Given the description of an element on the screen output the (x, y) to click on. 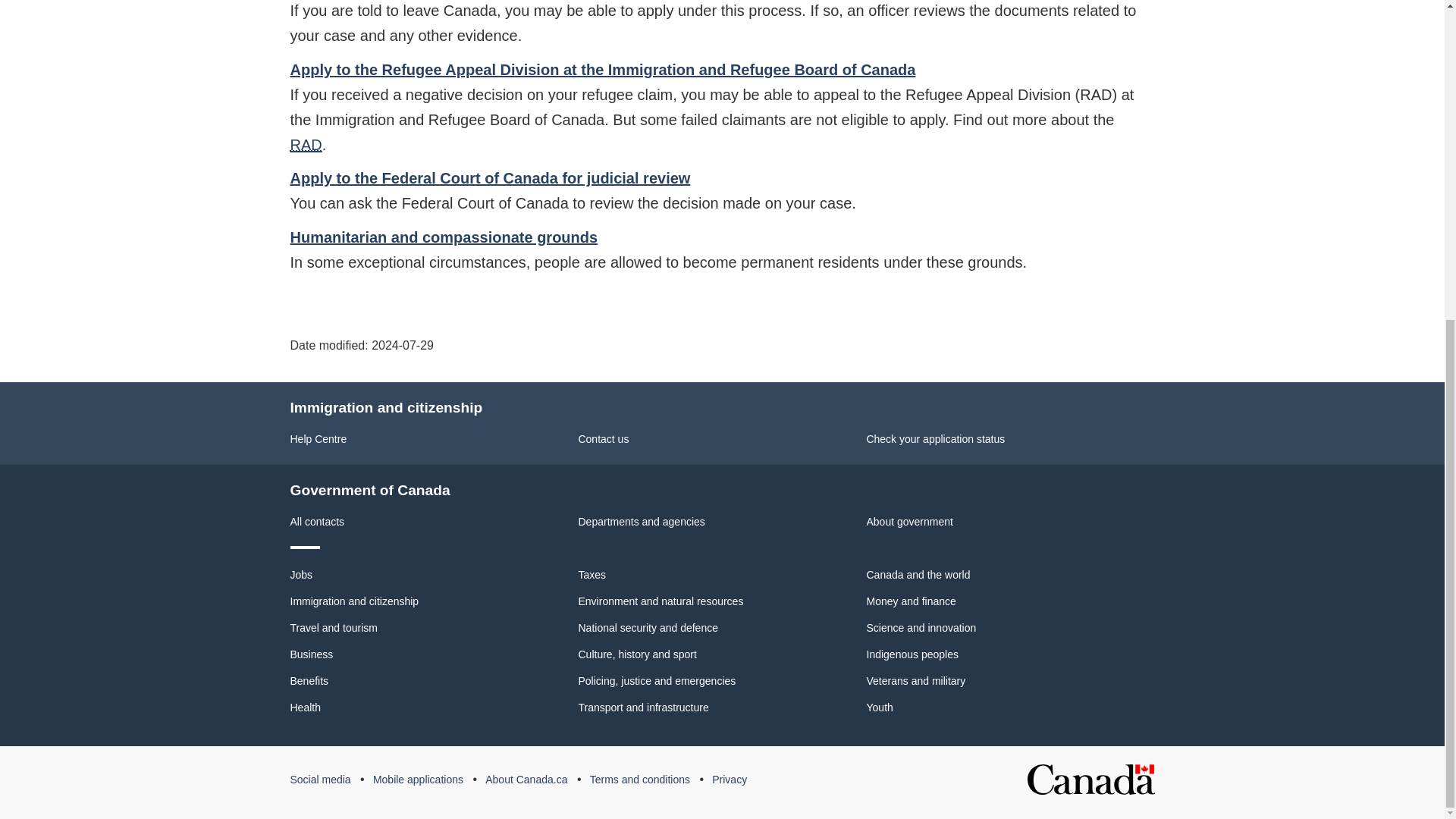
All contacts (316, 521)
Humanitarian and compassionate grounds (442, 237)
Contact us (603, 439)
Check your application status (935, 439)
RAD (305, 144)
Apply to the Federal Court of Canada for judicial review (489, 177)
Refugee Appeal Division (305, 144)
About government (909, 521)
Help Centre (317, 439)
